Given the description of an element on the screen output the (x, y) to click on. 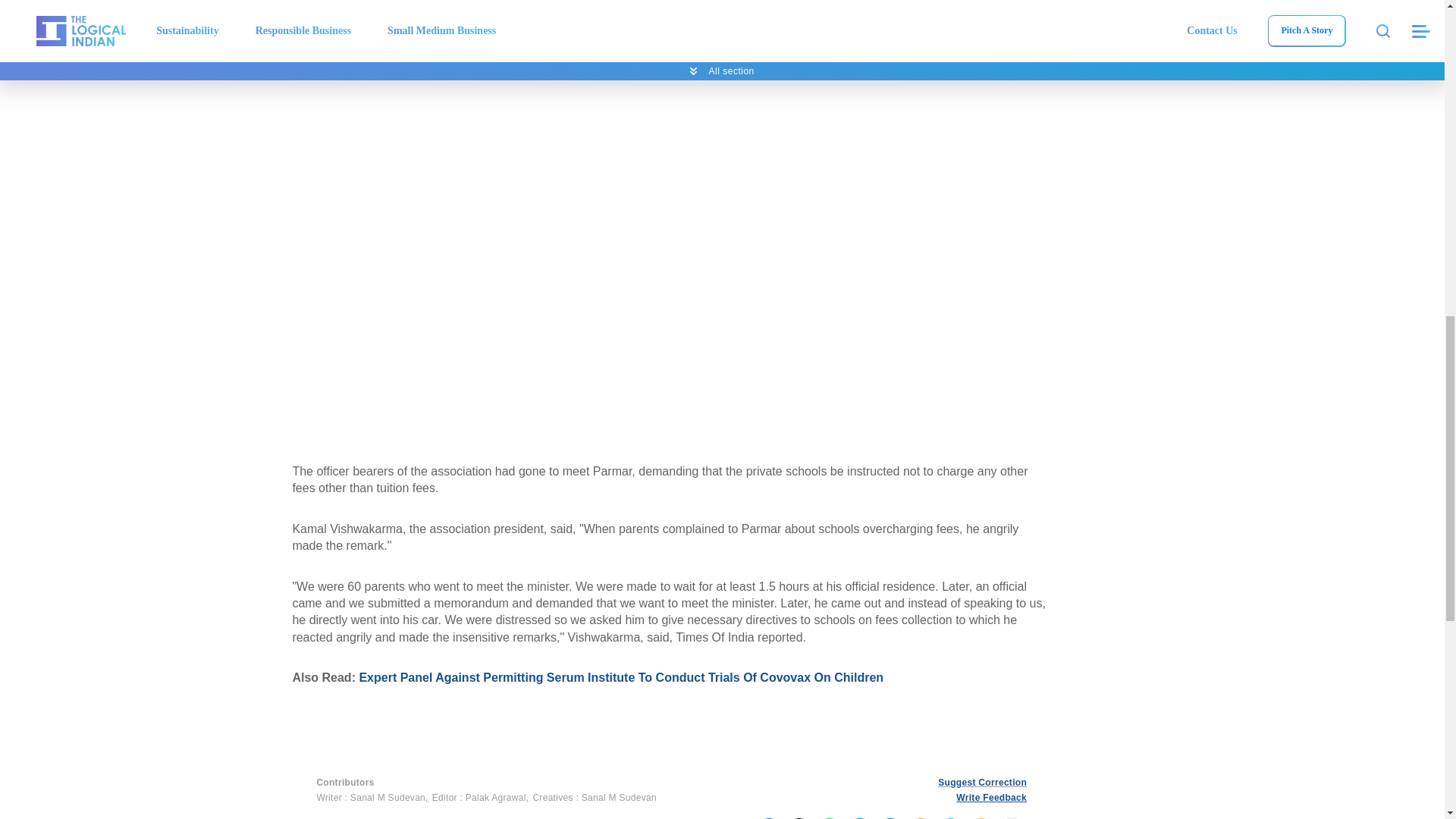
Share by Email (919, 818)
LinkedIn (890, 818)
